Given the description of an element on the screen output the (x, y) to click on. 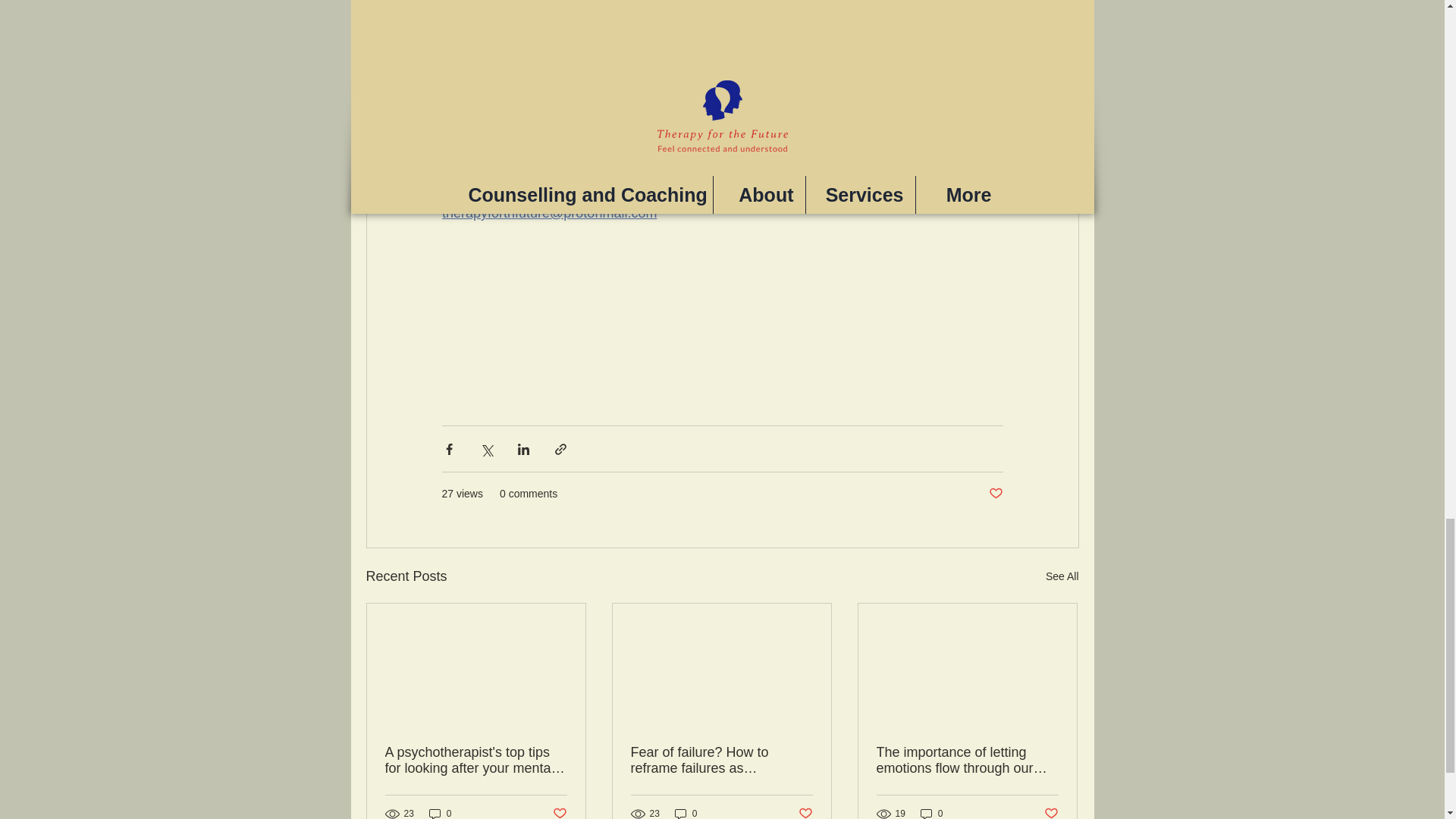
0 (440, 812)
See All (1061, 576)
0 (931, 812)
Post not marked as liked (558, 812)
Post not marked as liked (804, 812)
Post not marked as liked (1050, 812)
Post not marked as liked (995, 494)
